Given the description of an element on the screen output the (x, y) to click on. 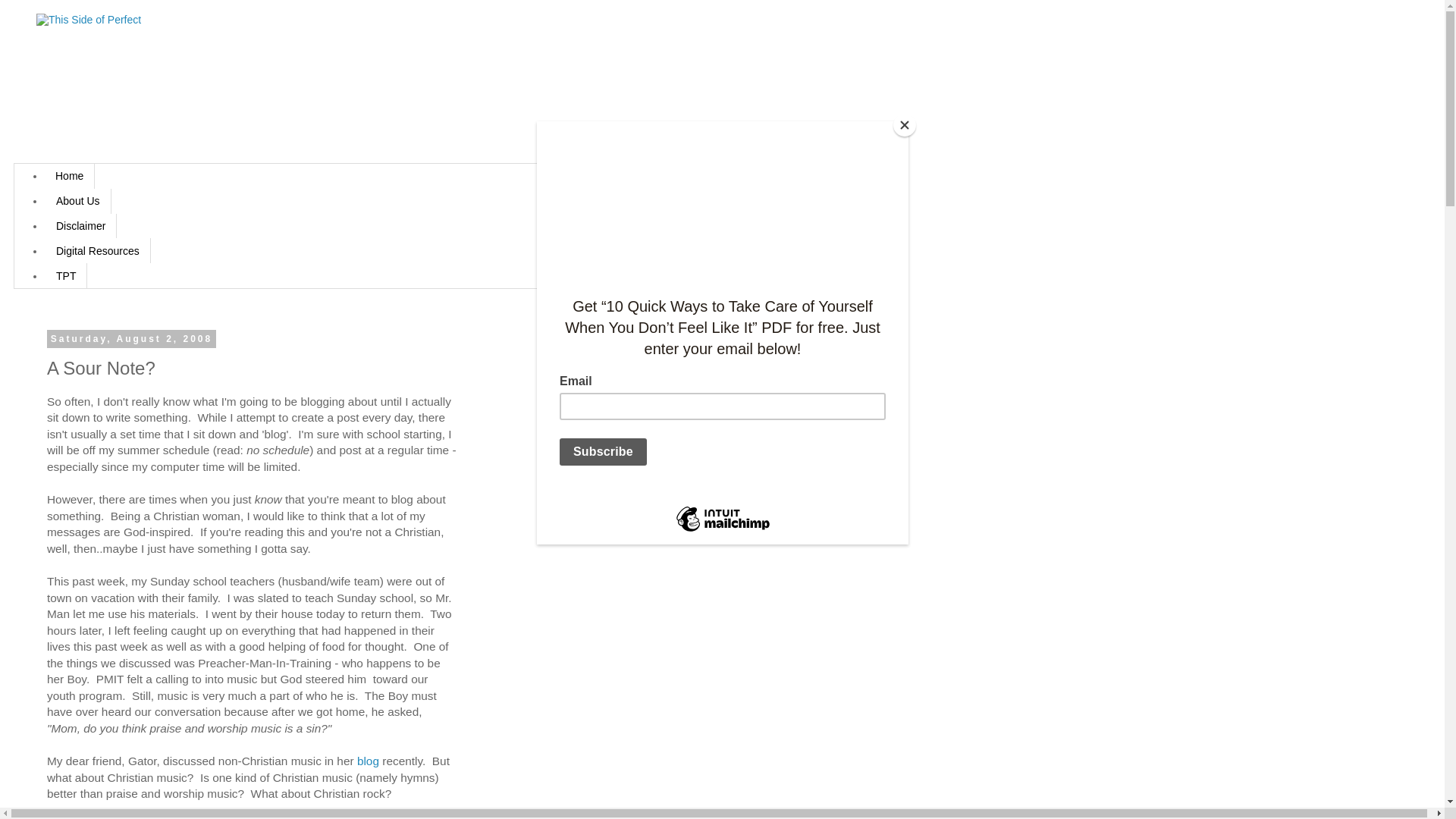
About Us (78, 201)
blog (367, 760)
Home (69, 176)
Disclaimer (80, 226)
Digital Resources (98, 250)
TPT (66, 275)
